Given the description of an element on the screen output the (x, y) to click on. 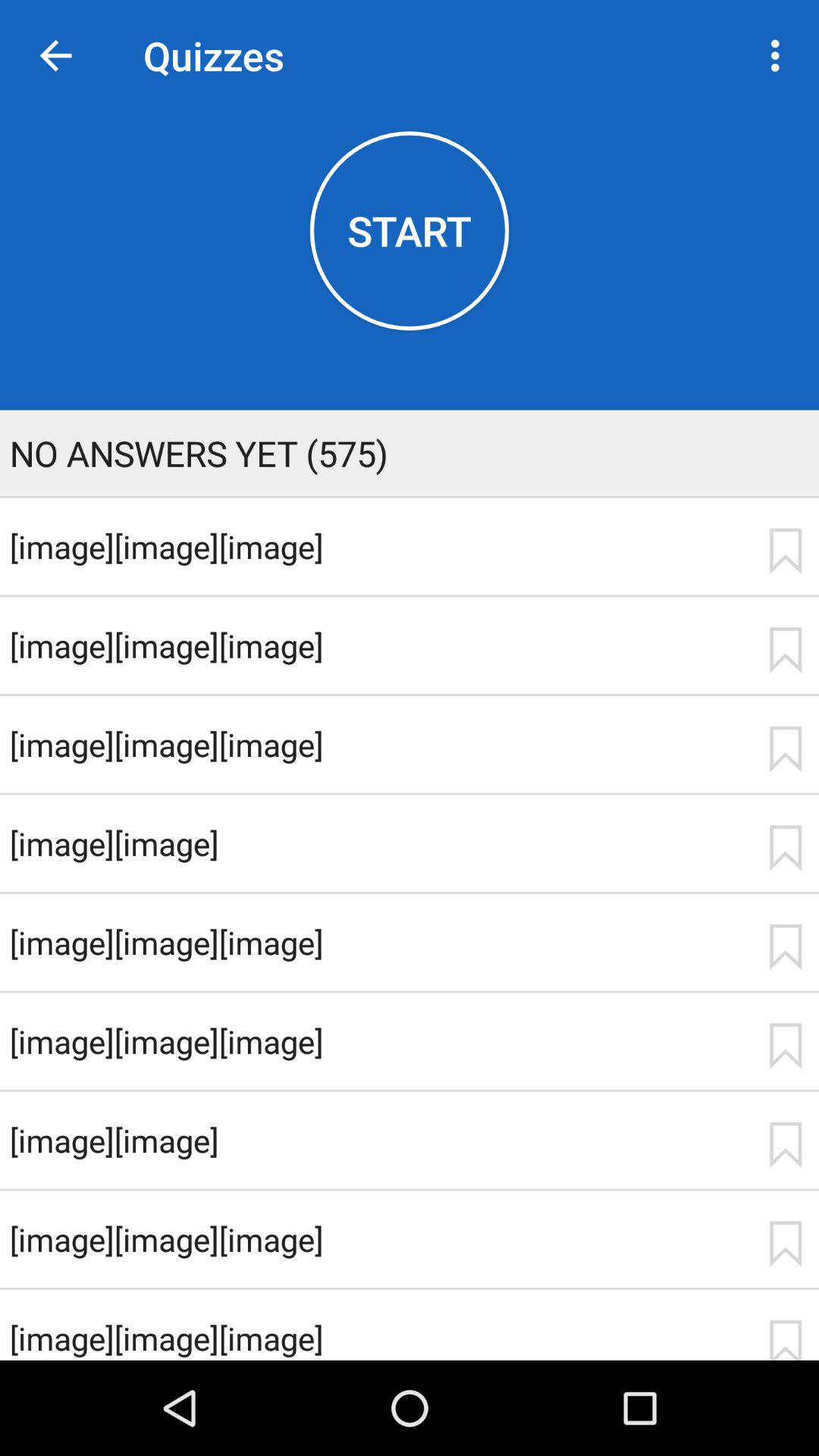
bookmark list item (784, 650)
